Given the description of an element on the screen output the (x, y) to click on. 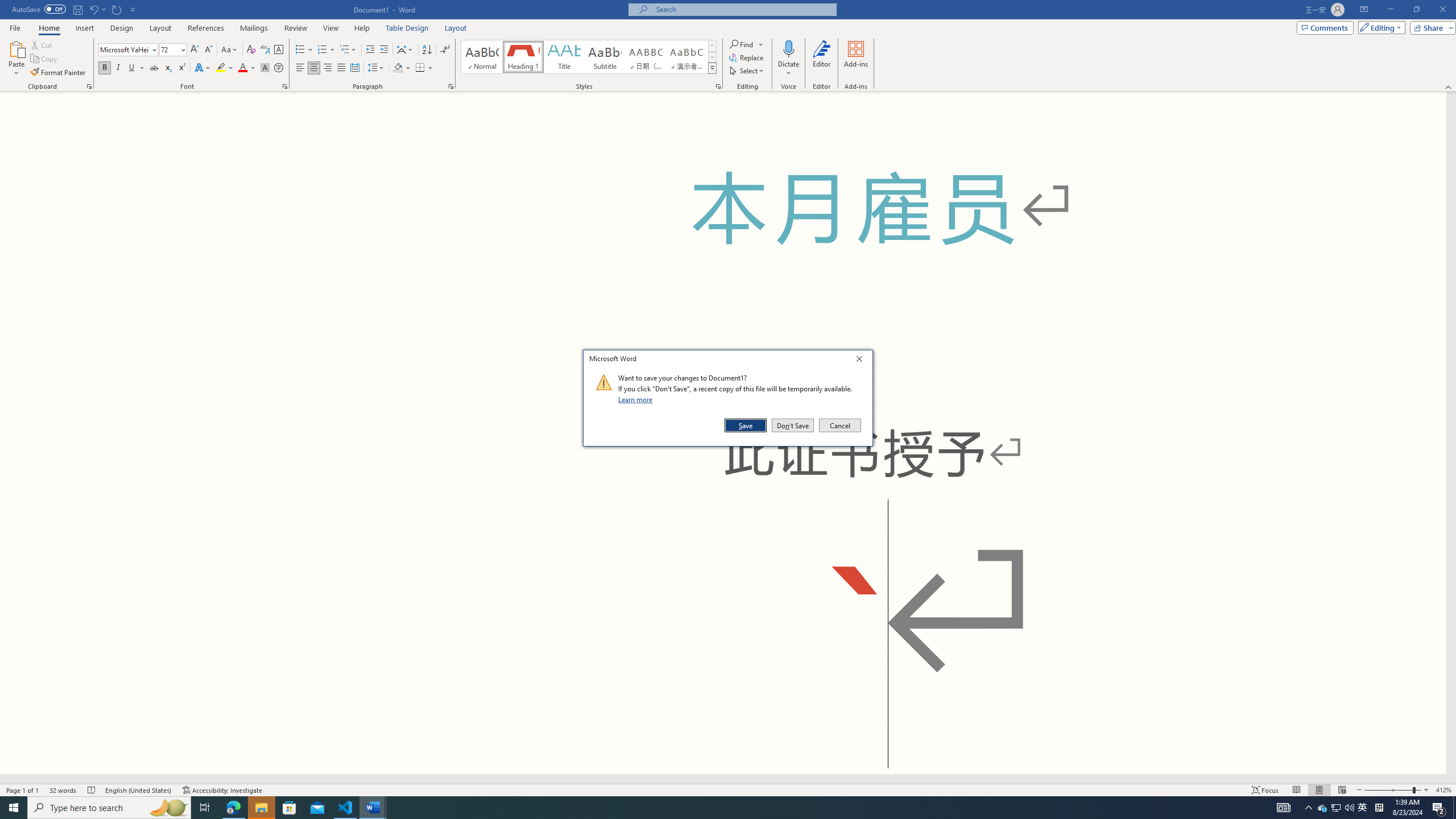
Spelling and Grammar Check No Errors (91, 790)
